Given the description of an element on the screen output the (x, y) to click on. 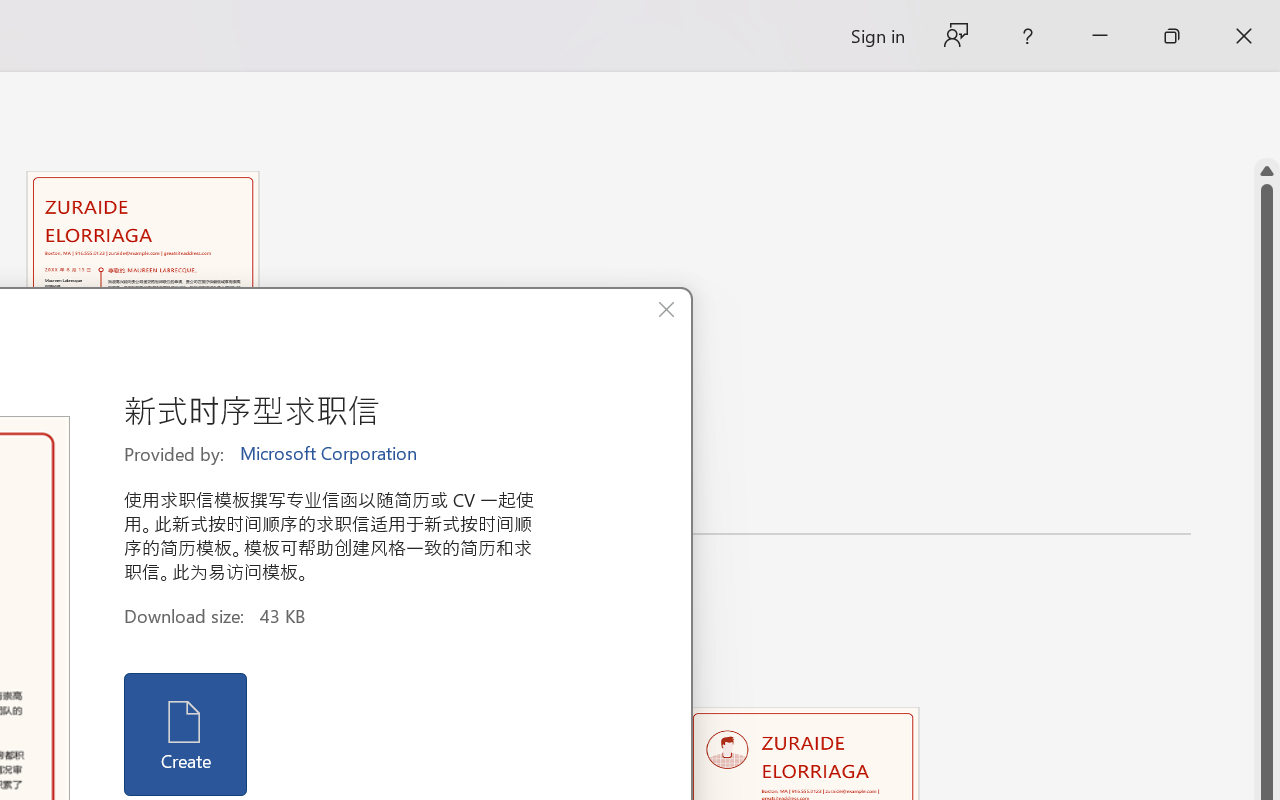
Unpin from list (273, 499)
Create (185, 734)
Microsoft Corporation (330, 454)
Line up (1267, 171)
